Given the description of an element on the screen output the (x, y) to click on. 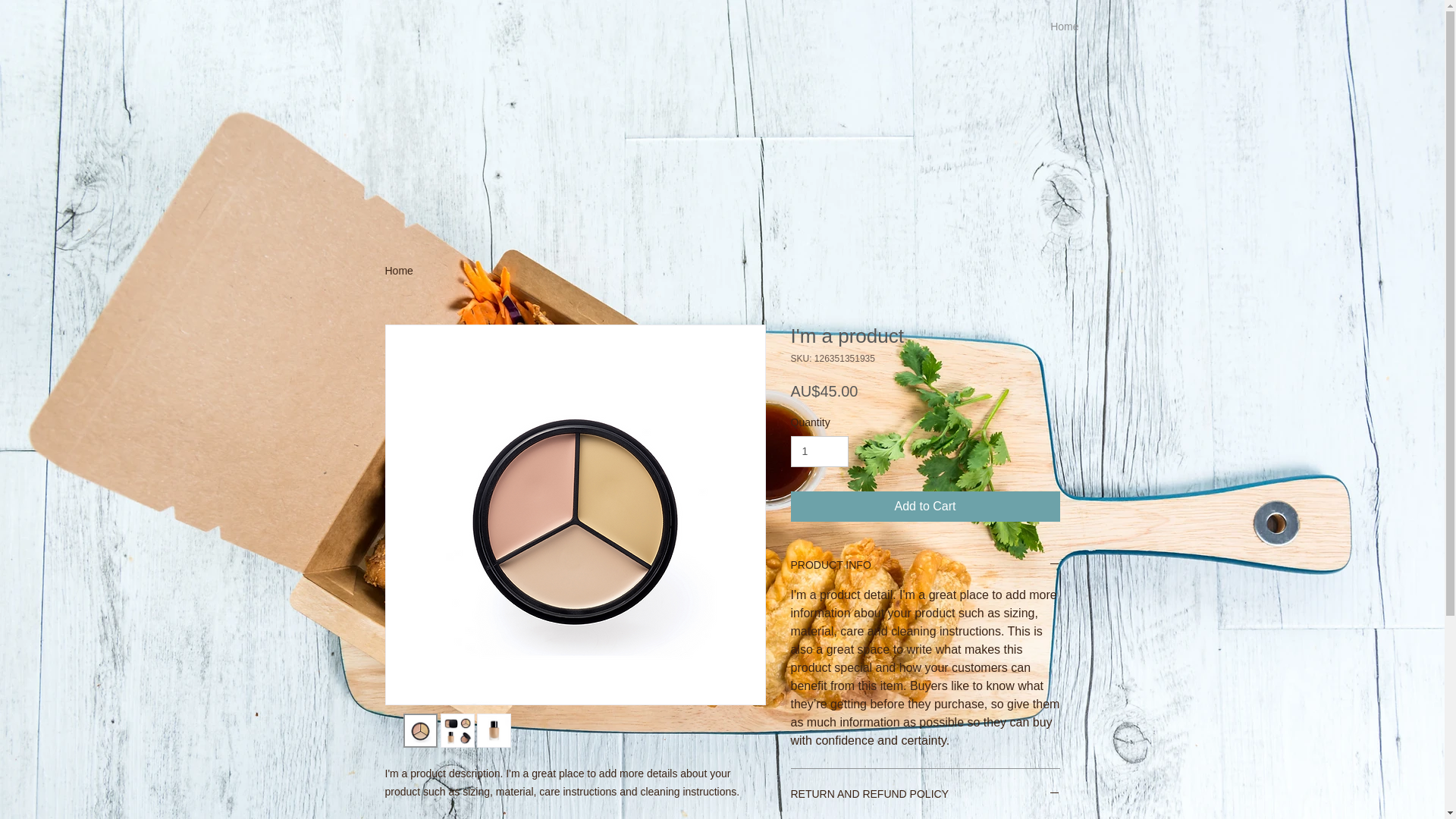
Home Element type: text (399, 270)
PRODUCT INFO Element type: text (924, 566)
RETURN AND REFUND POLICY Element type: text (924, 795)
Home Element type: text (969, 26)
Add to Cart Element type: text (924, 506)
